Given the description of an element on the screen output the (x, y) to click on. 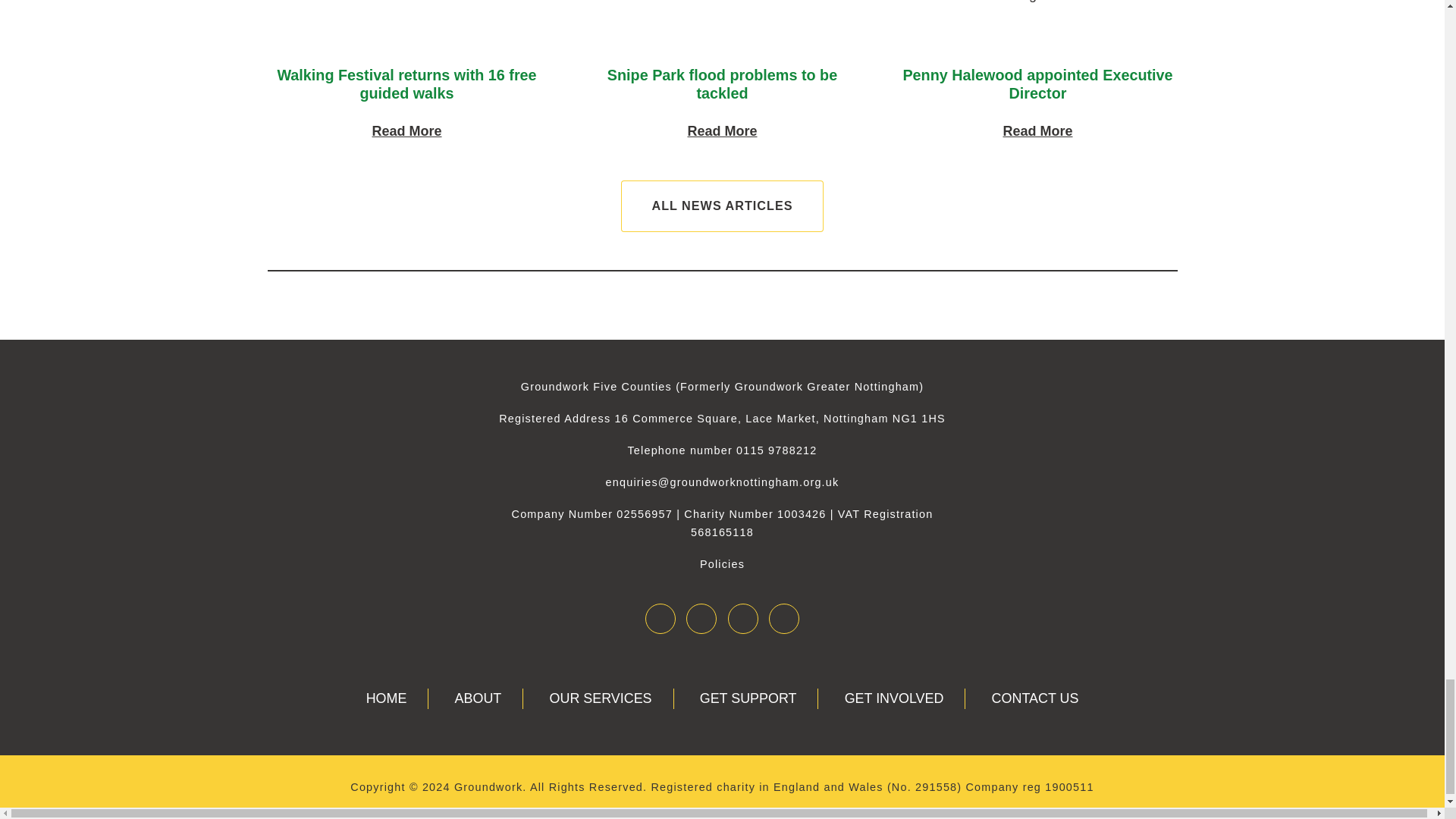
Twitter (659, 618)
Penny Halewood appointed Executive Director (722, 130)
Linkedin (1037, 84)
Instagram (742, 618)
Snipe Park flood problems to be tackled (783, 618)
Facebook (721, 84)
Walking Festival returns with 16 free guided walks (700, 618)
